Given the description of an element on the screen output the (x, y) to click on. 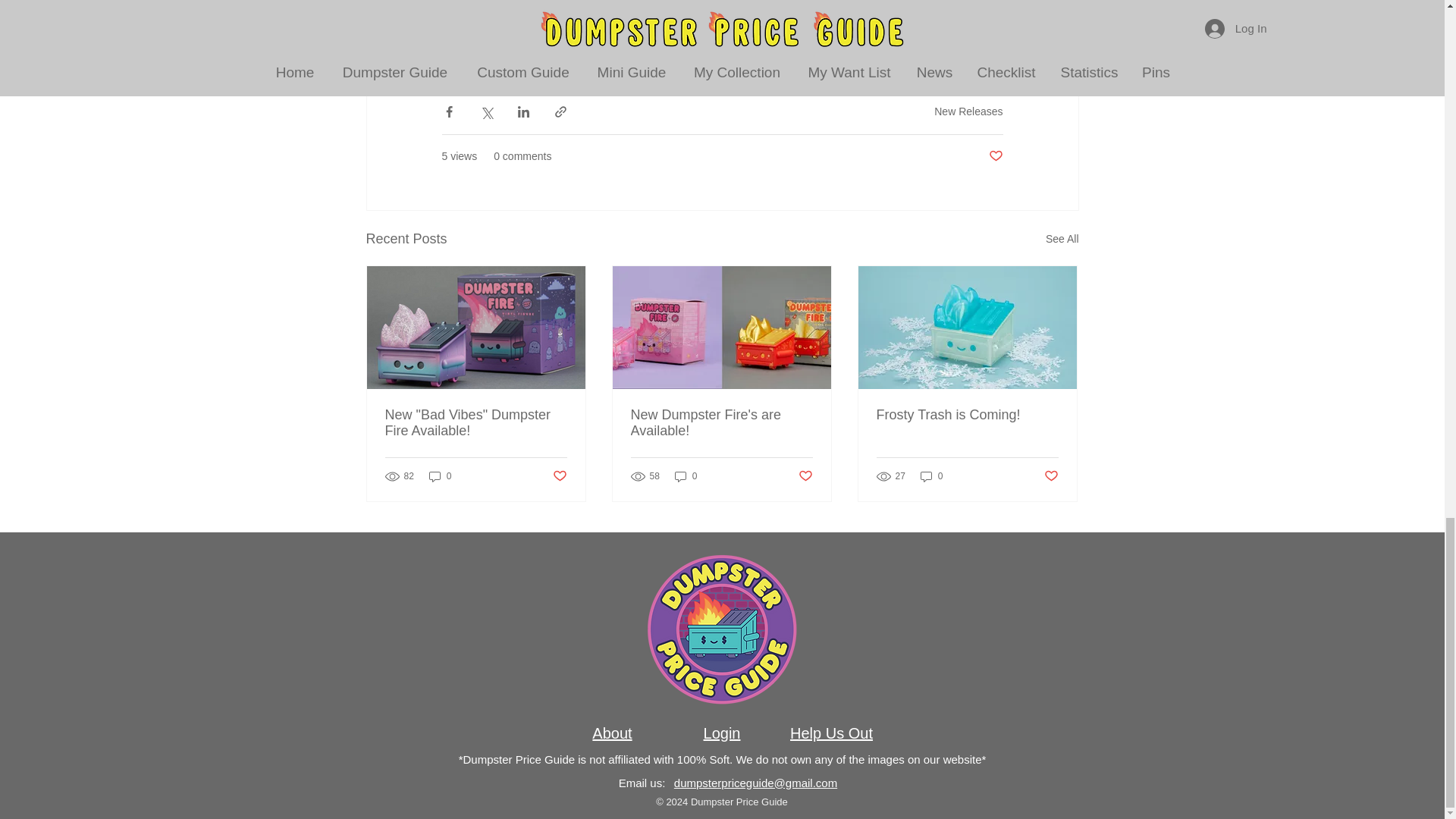
0 (440, 476)
Post not marked as liked (995, 156)
See All (1061, 239)
Post not marked as liked (558, 475)
New "Bad Vibes" Dumpster Fire Available! (476, 422)
New Releases (968, 111)
Login (722, 733)
0 (685, 476)
New Dumpster Fire's are Available! (721, 422)
Help Us Out (831, 733)
